Given the description of an element on the screen output the (x, y) to click on. 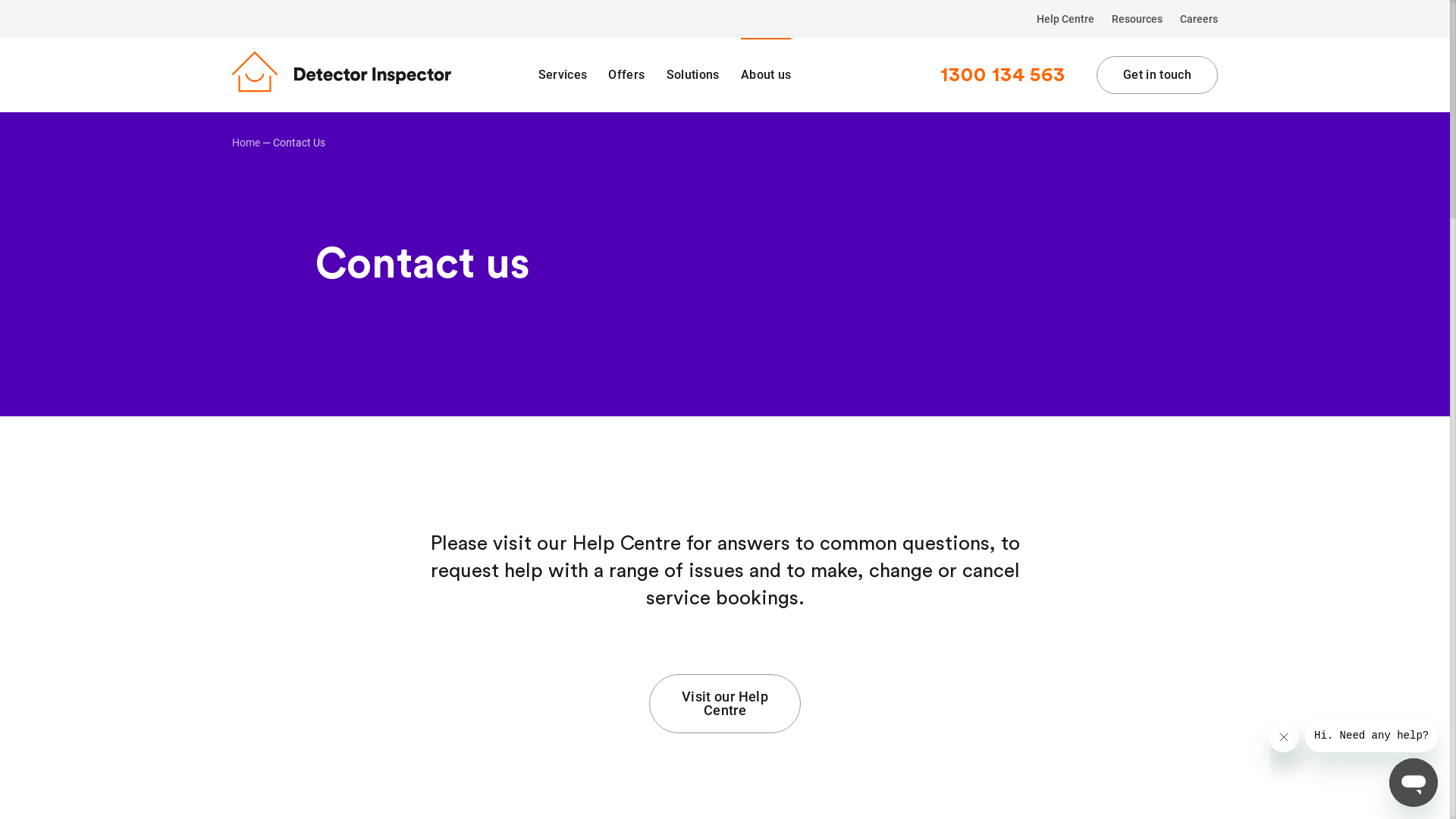
Offers Element type: text (626, 74)
Close message Element type: hover (1283, 736)
Visit our Help Centre Element type: text (724, 703)
About us Element type: text (765, 74)
Message from company Element type: hover (1371, 735)
Resources Element type: text (1136, 18)
Careers Element type: text (1194, 18)
Help Centre Element type: text (1065, 18)
Get in touch Element type: text (1156, 75)
Services Element type: text (562, 74)
Skip to main content Element type: text (0, 0)
Solutions Element type: text (692, 74)
Home Element type: text (246, 142)
1300 134 563 Element type: text (1002, 74)
Button to launch messaging window Element type: hover (1413, 782)
